Given the description of an element on the screen output the (x, y) to click on. 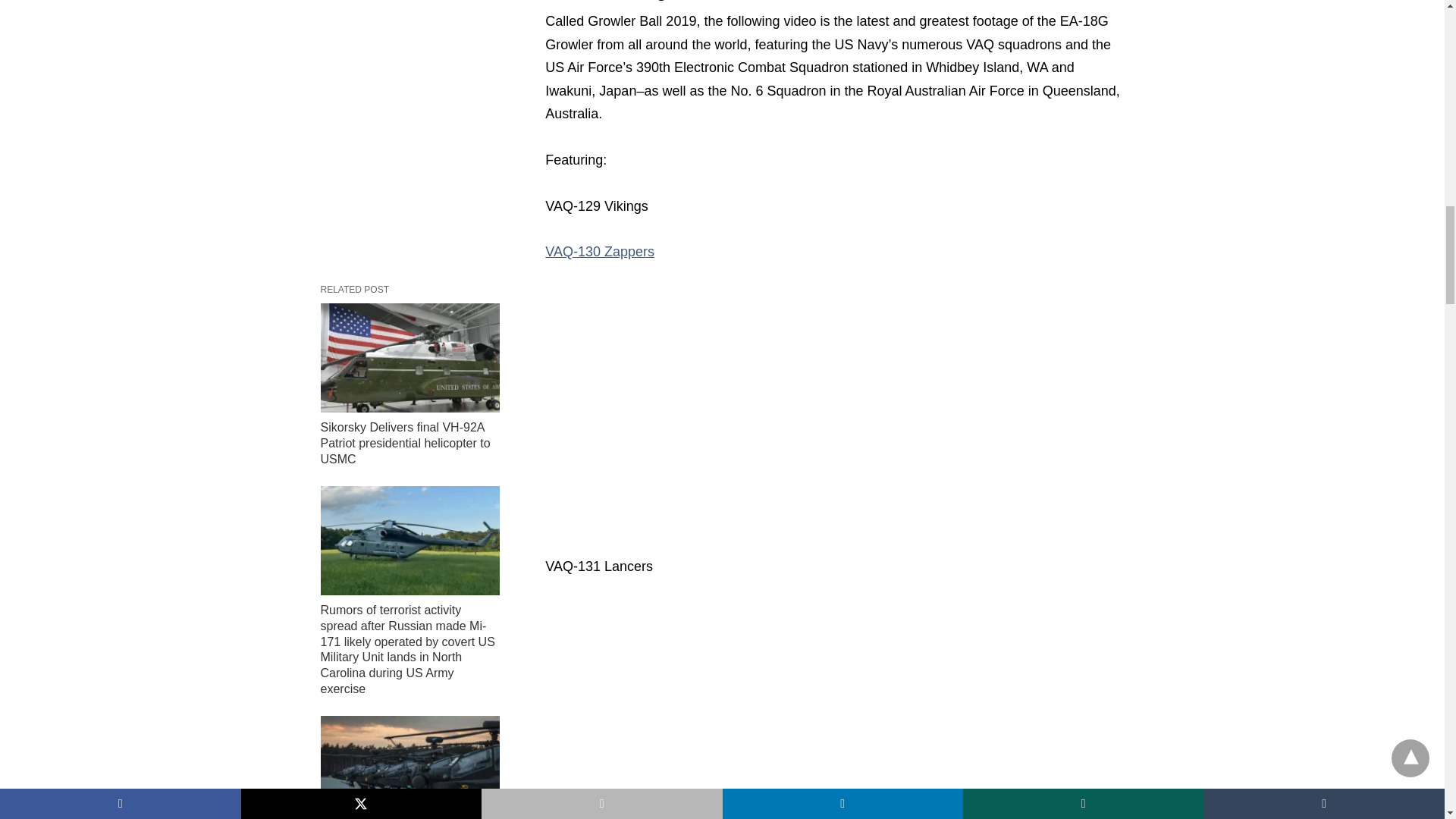
3rd party ad content (834, 710)
VAQ-130 Zappers (598, 251)
